Given the description of an element on the screen output the (x, y) to click on. 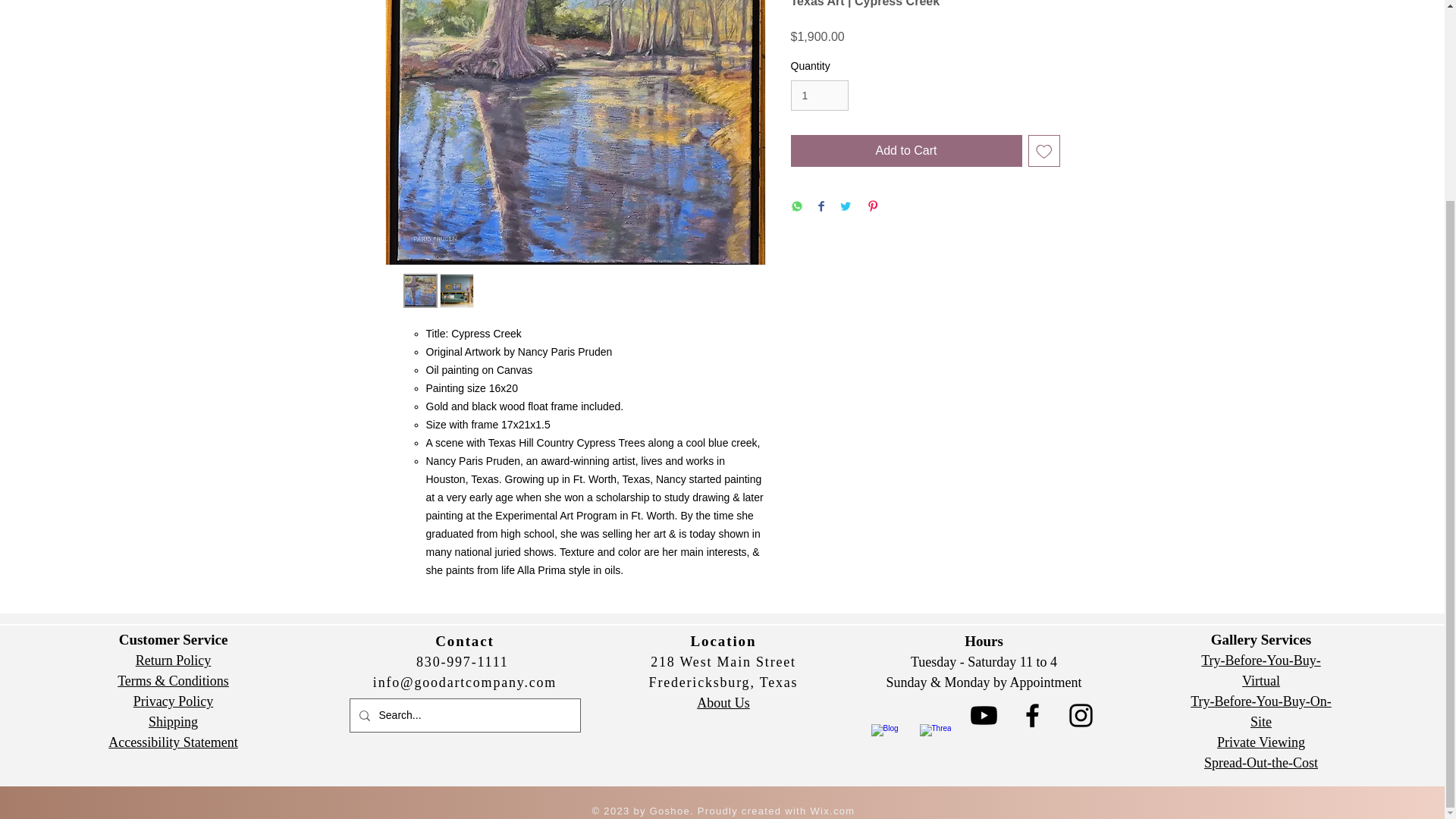
1 (818, 95)
Return Policy (173, 660)
Try-Before-You-Buy-On-Site (1261, 711)
Accessibility Statement (172, 742)
Shipping (173, 721)
Add to Cart (906, 151)
Spread-Out-the-Cost (1260, 762)
About Us (723, 702)
 Wix.com (831, 810)
Privacy Policy (173, 701)
Try-Before-You-Buy-Virtual (1260, 670)
Private Viewing (1260, 742)
